Given the description of an element on the screen output the (x, y) to click on. 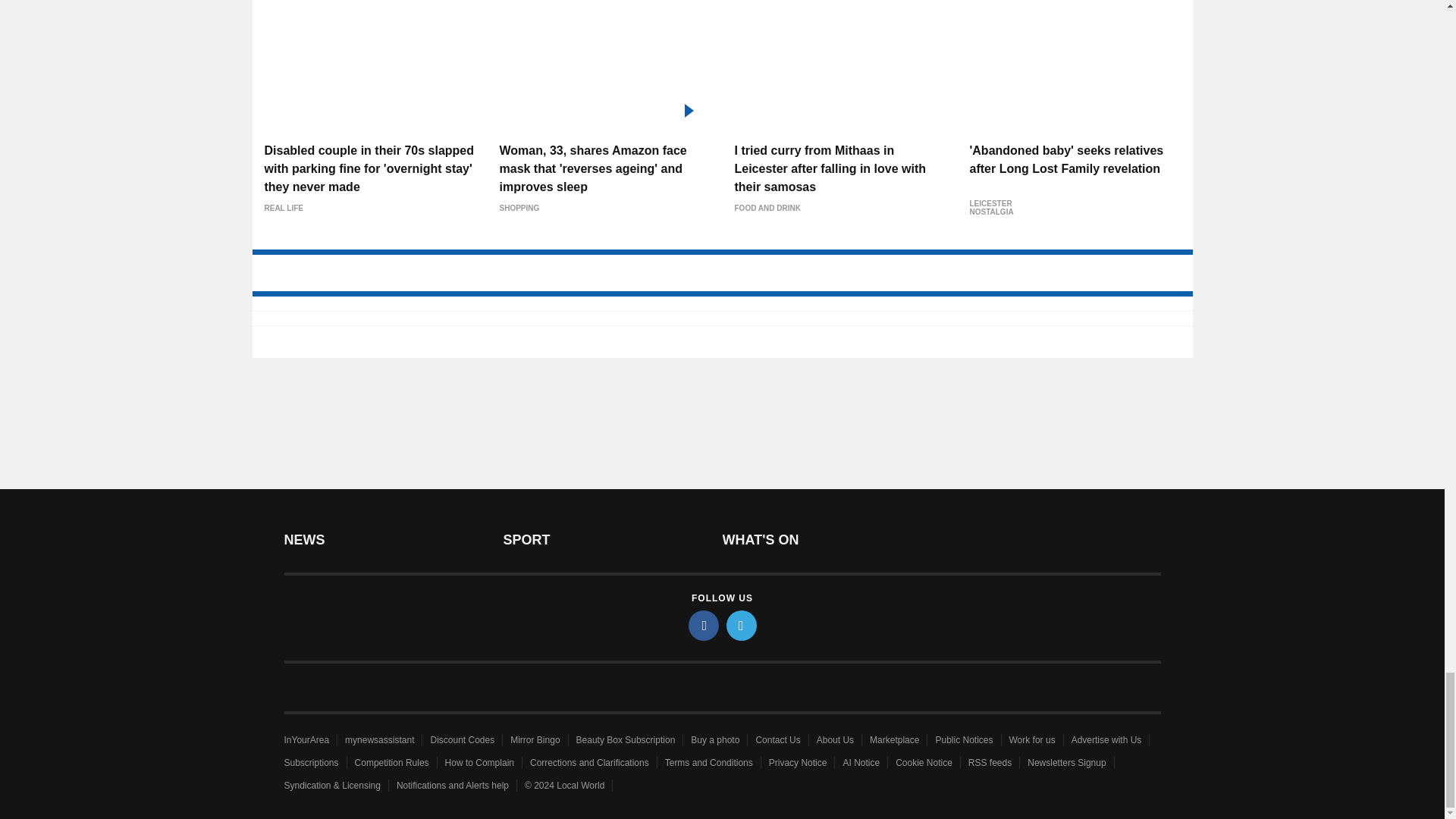
twitter (741, 625)
facebook (703, 625)
